Given the description of an element on the screen output the (x, y) to click on. 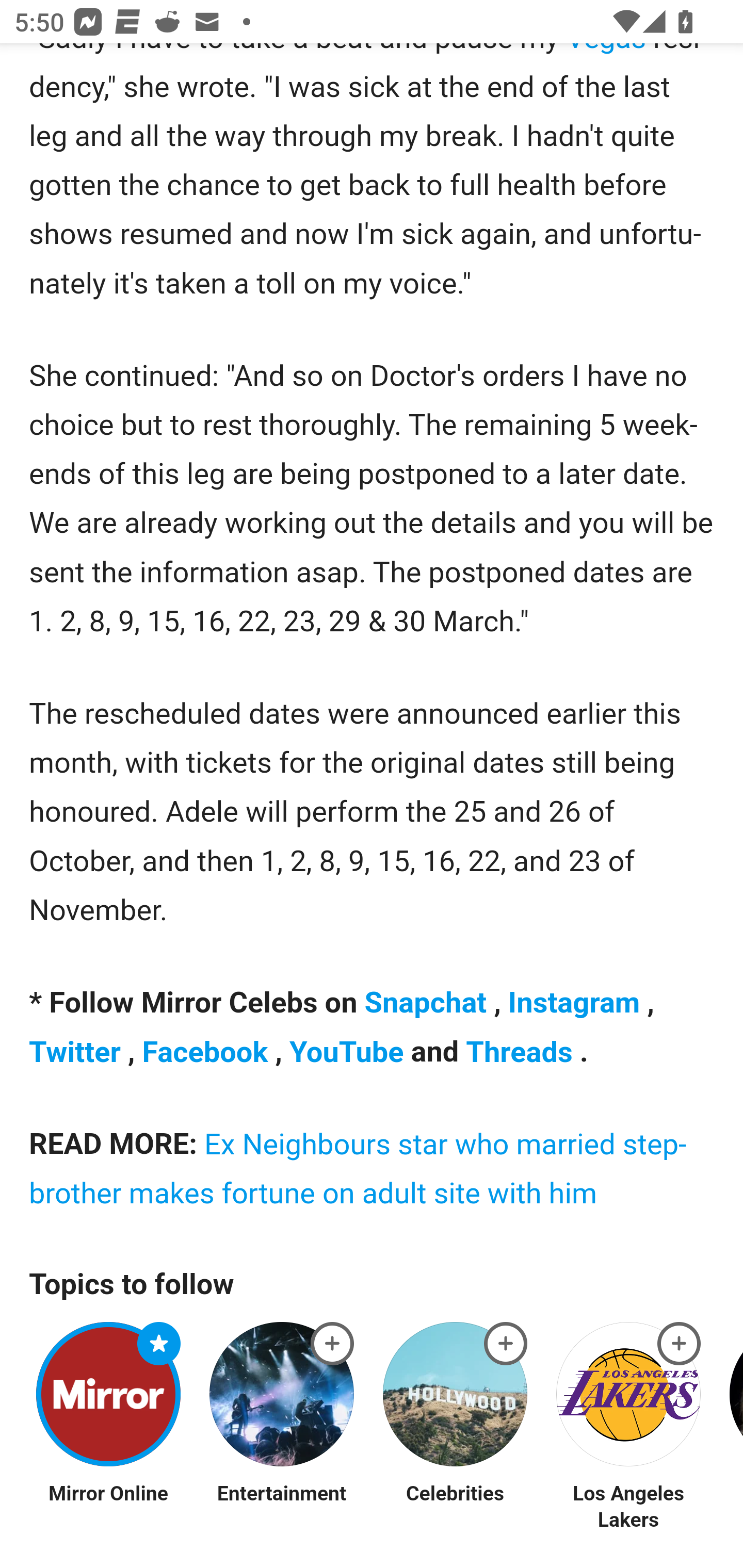
Snapchat (428, 1003)
Instagram (577, 1003)
Twitter (77, 1051)
Facebook (208, 1051)
YouTube (350, 1051)
Threads (523, 1051)
adele-looks-unamused-la-lakers-32691307 (159, 1343)
adele-looks-unamused-la-lakers-32691307 (332, 1343)
adele-looks-unamused-la-lakers-32691307 (505, 1343)
adele-looks-unamused-la-lakers-32691307 (679, 1343)
Mirror Online (107, 1494)
Entertainment (282, 1494)
Celebrities (454, 1494)
Los Angeles Lakers (629, 1507)
